Given the description of an element on the screen output the (x, y) to click on. 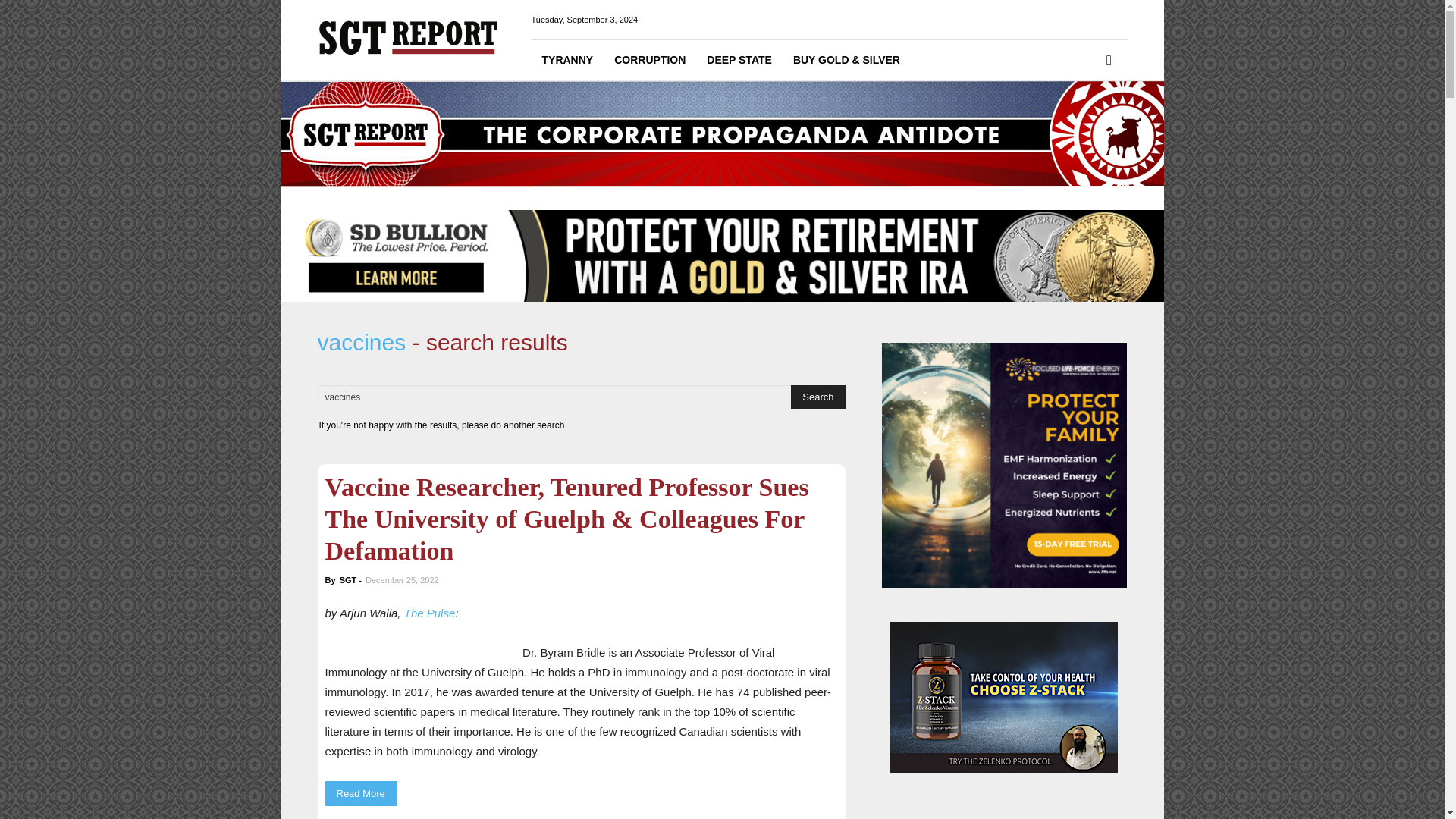
CORRUPTION (649, 60)
Read More (360, 793)
DEEP STATE (739, 60)
Search (817, 396)
The Pulse (429, 612)
vaccines (567, 396)
SGT (347, 579)
Search (1085, 122)
TYRANNY (567, 60)
vaccines (567, 396)
